Given the description of an element on the screen output the (x, y) to click on. 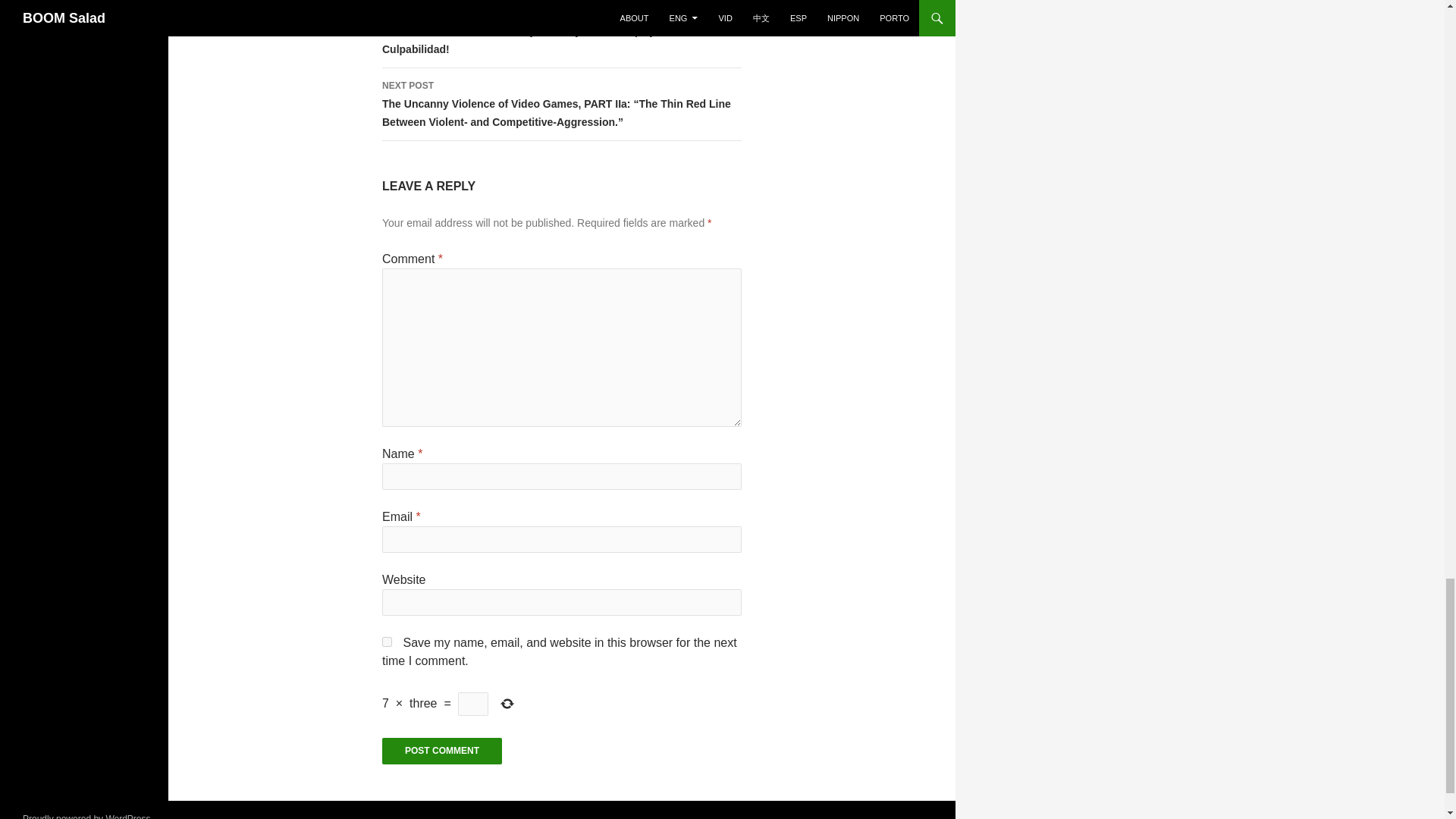
yes (386, 642)
Post Comment (441, 750)
